Given the description of an element on the screen output the (x, y) to click on. 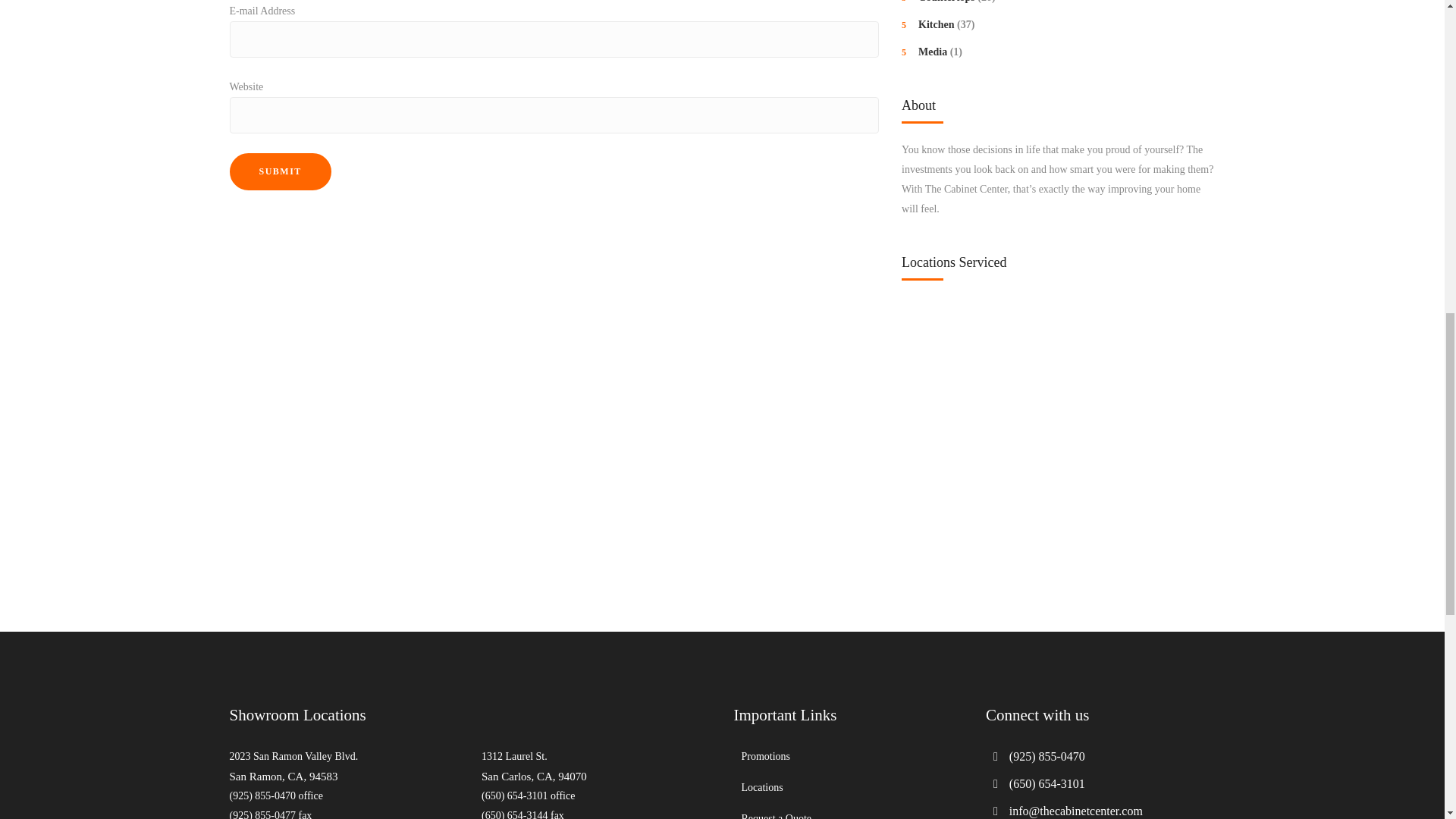
Submit (279, 171)
